Given the description of an element on the screen output the (x, y) to click on. 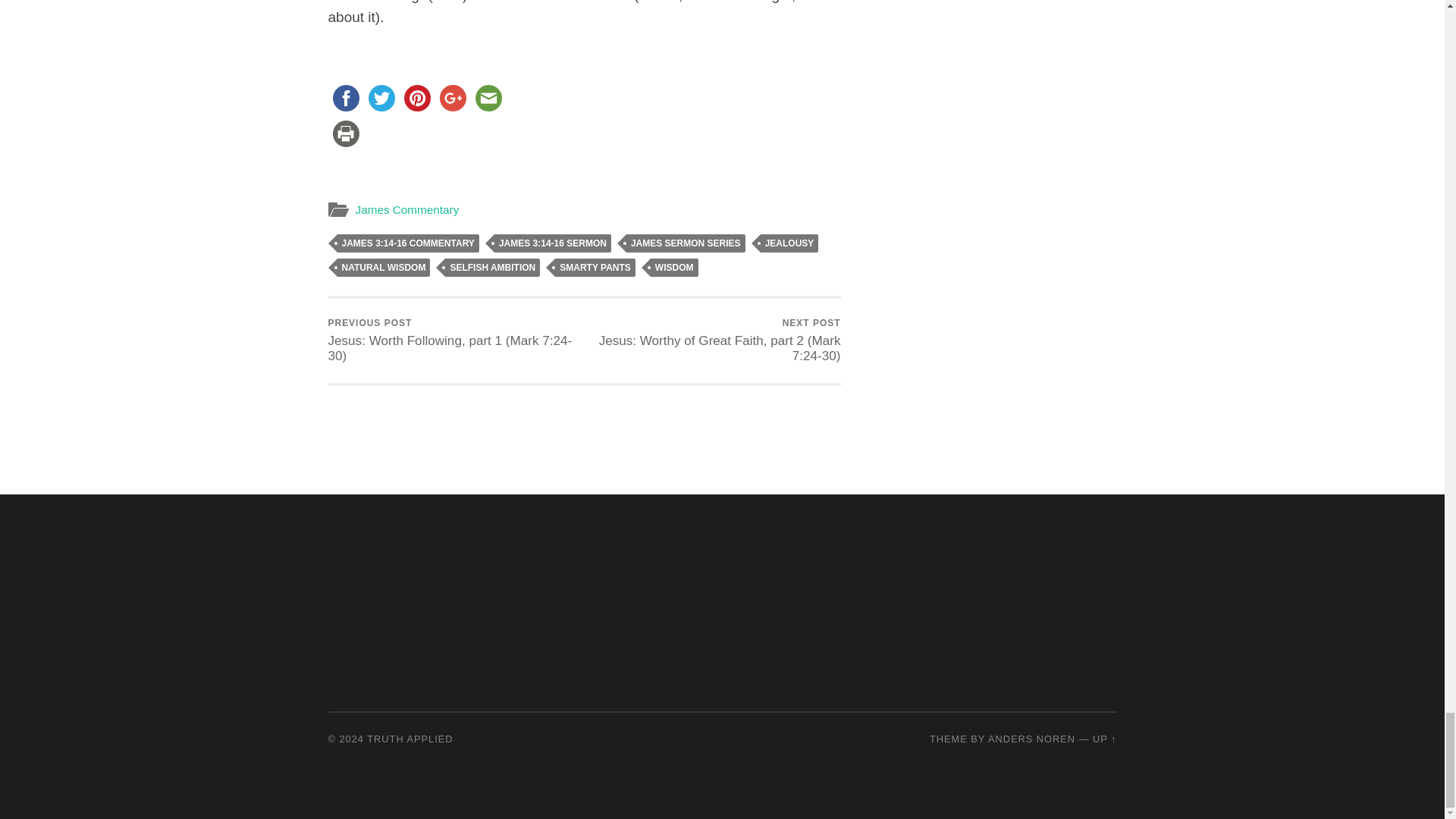
facebook (344, 98)
twitter (381, 98)
pinterest (415, 98)
google (452, 98)
email (487, 98)
print (344, 133)
To the top (1104, 738)
